Given the description of an element on the screen output the (x, y) to click on. 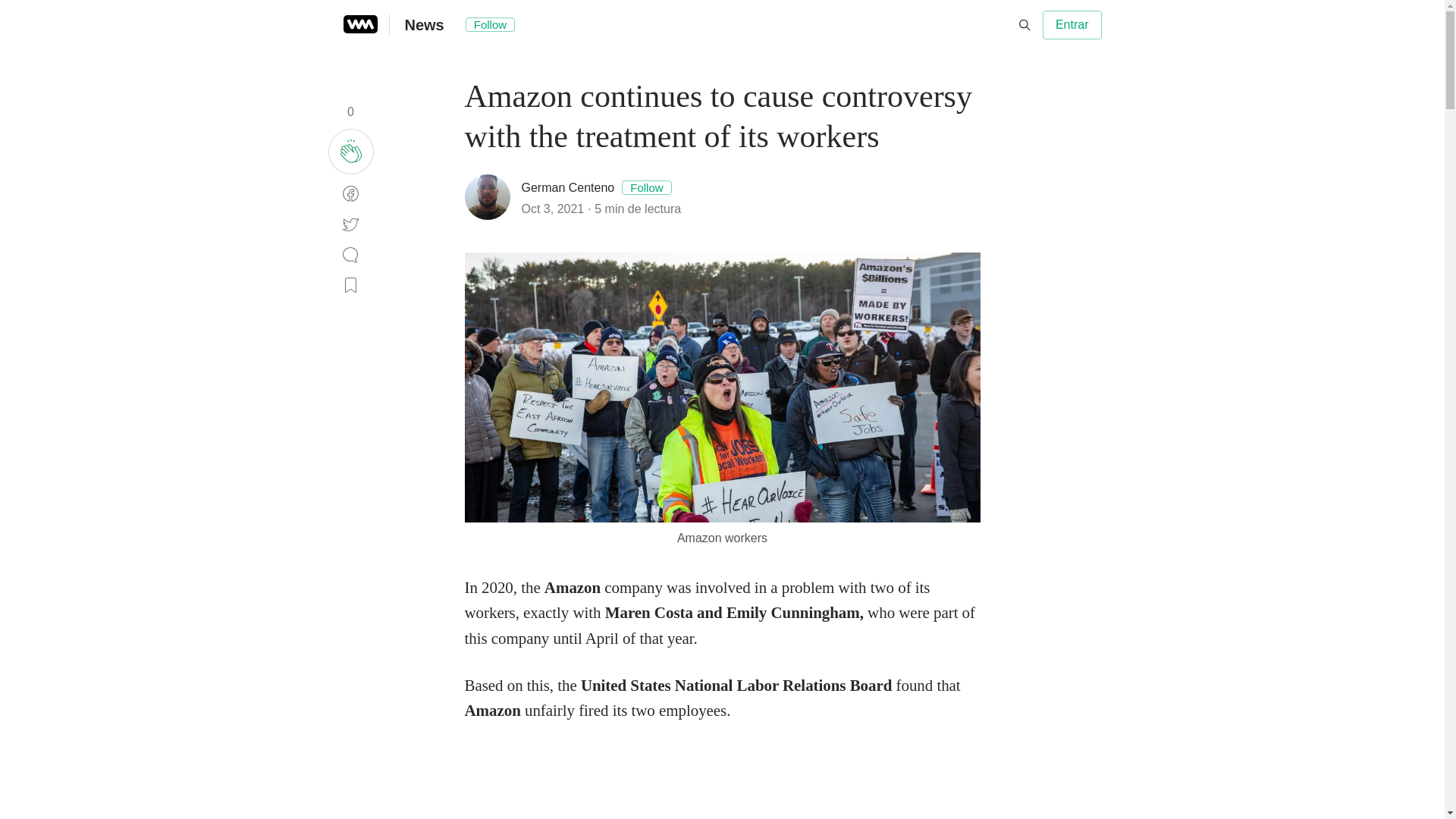
German Centeno (567, 187)
Advertisement (721, 782)
Follow (646, 187)
News (424, 24)
Follow (490, 24)
Entrar (1072, 24)
